Given the description of an element on the screen output the (x, y) to click on. 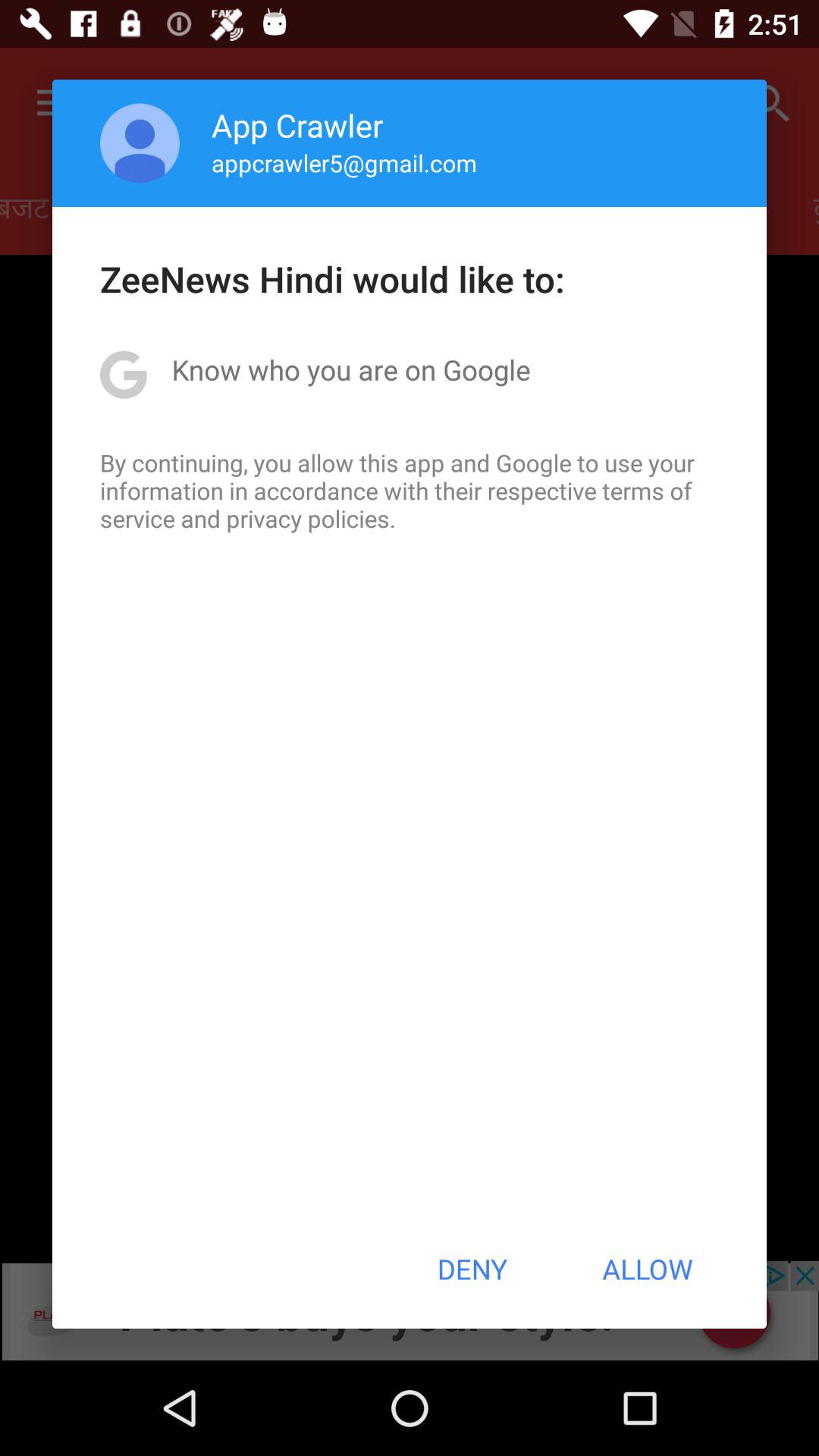
open item above by continuing you icon (350, 369)
